Given the description of an element on the screen output the (x, y) to click on. 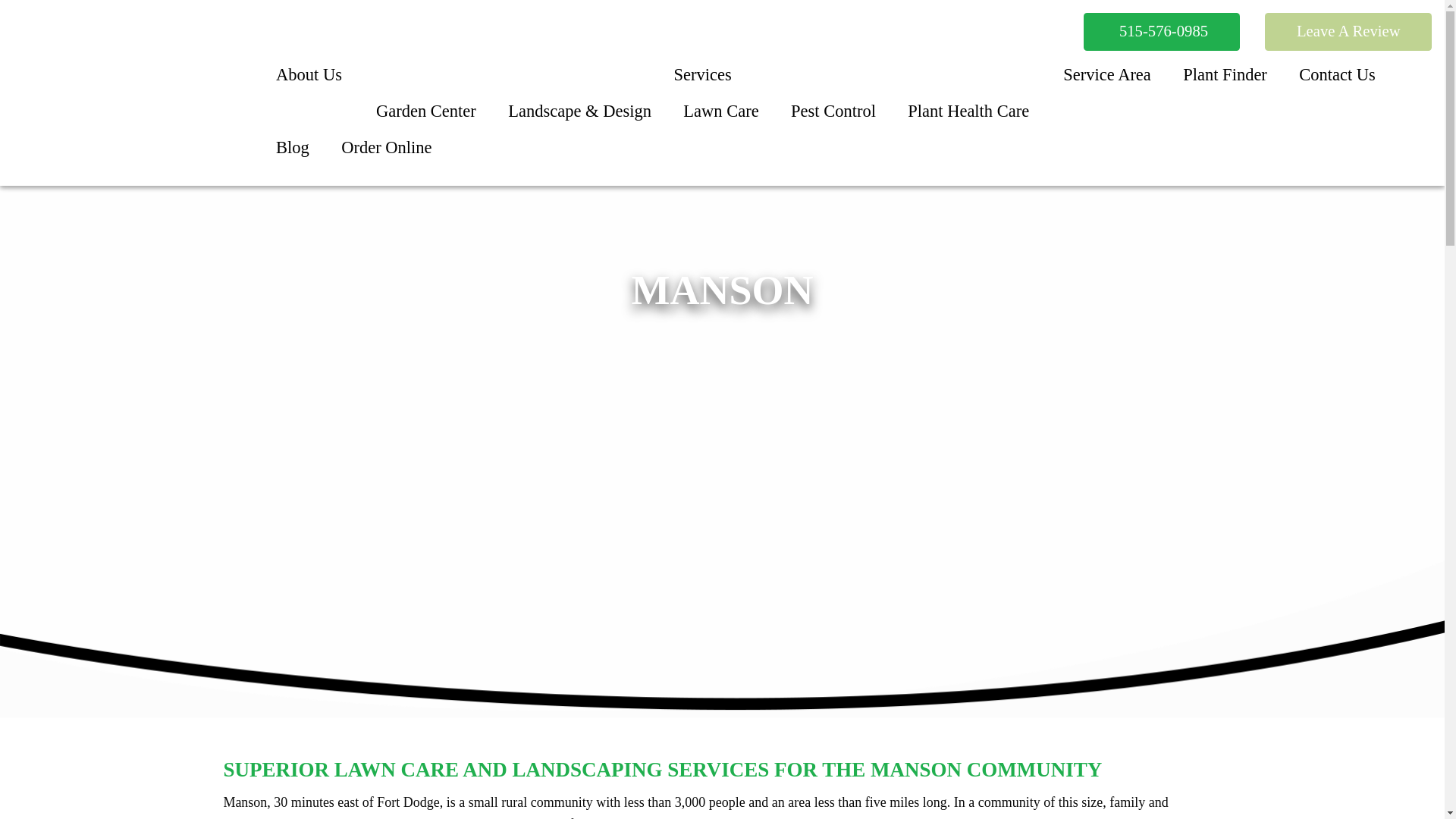
Blog (292, 147)
Lawn Care (720, 111)
Leave A Review (1348, 31)
About Us (308, 75)
Plant Finder (1225, 75)
Call Us (1161, 31)
Pest Control (833, 111)
Contact Us (1337, 75)
Services (702, 75)
Garden Center (425, 111)
515-576-0985 (1161, 31)
Order Online (386, 147)
Service Area (1106, 75)
Plant Health Care (967, 111)
Leave A Review (1348, 31)
